Given the description of an element on the screen output the (x, y) to click on. 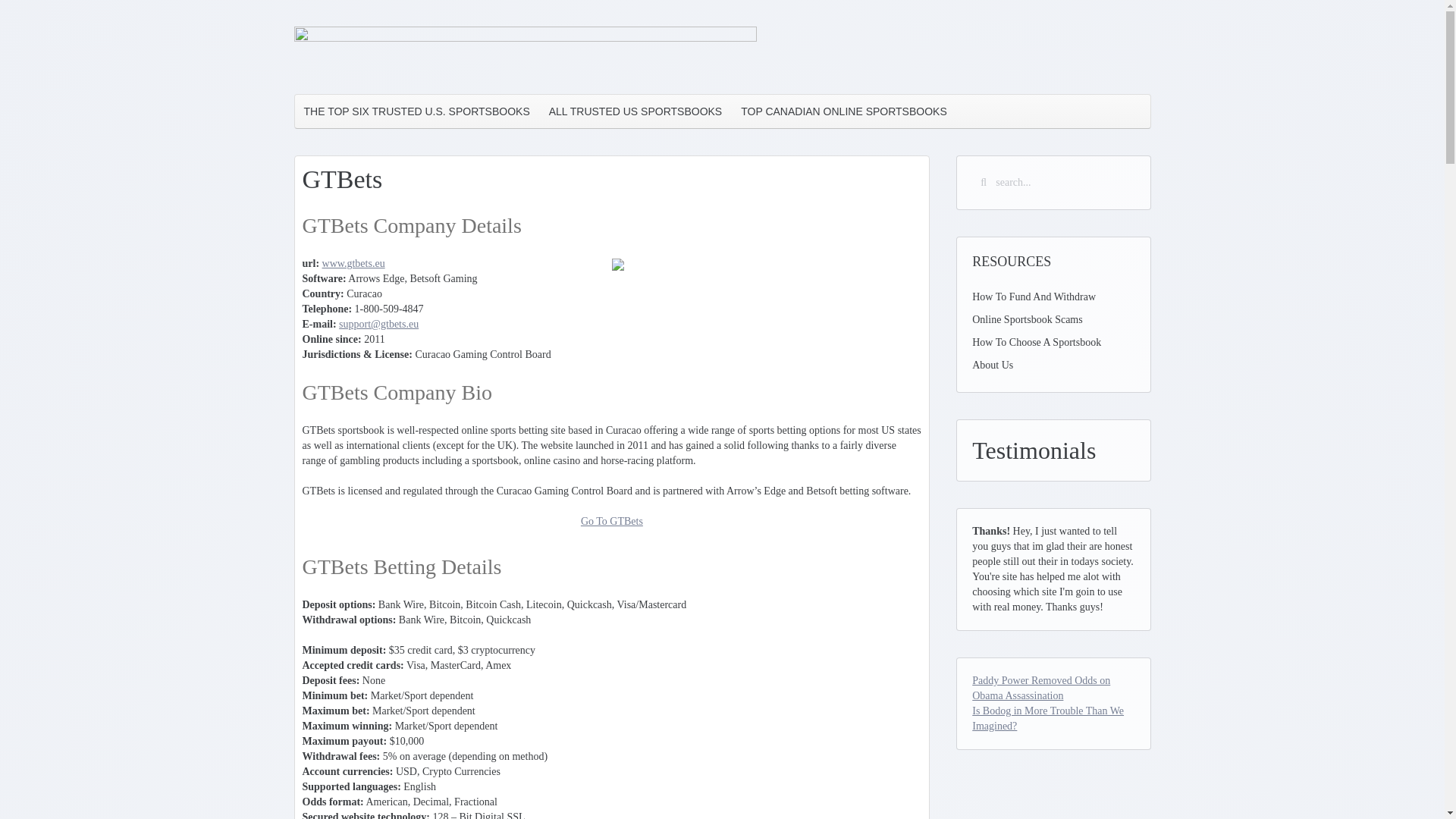
Online Sportsbook Scams (1053, 319)
TOP CANADIAN ONLINE SPORTSBOOKS (843, 110)
www.gtbets.eu (353, 263)
Paddy Power Removed Odds on Obama Assassination (1040, 687)
How To Fund And Withdraw (1053, 296)
ALL TRUSTED US SPORTSBOOKS (635, 110)
How To Choose A Sportsbook (1053, 342)
Is Bodog in More Trouble Than We Imagined? (1048, 718)
Go To GTBets (611, 521)
About Us (1053, 364)
